Given the description of an element on the screen output the (x, y) to click on. 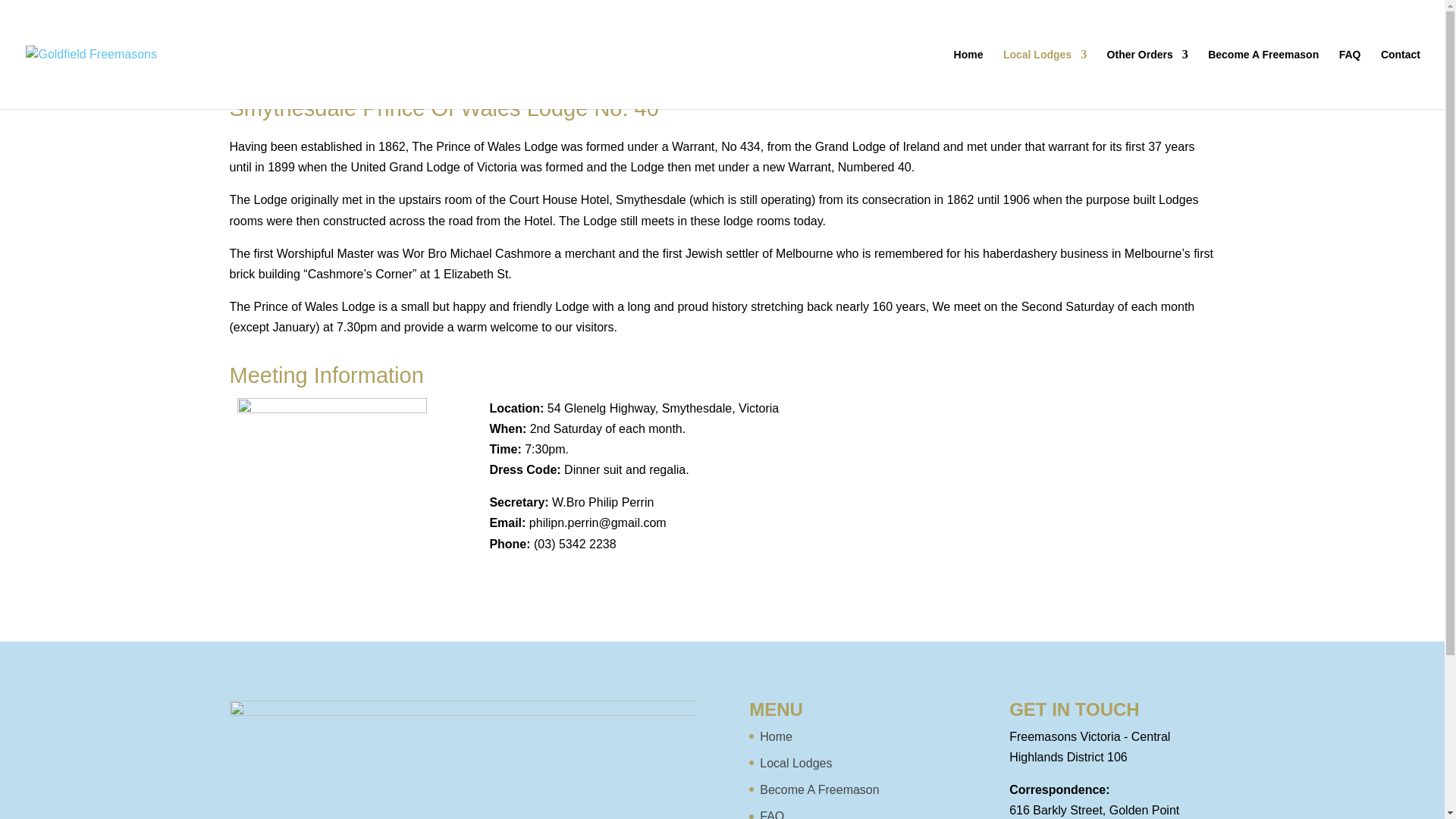
Local Lodges (795, 762)
Home (776, 735)
Become A Freemason (819, 789)
Become A Freemason (1263, 78)
Other Orders (1147, 78)
Local Lodges (1044, 78)
FAQ (772, 814)
